Given the description of an element on the screen output the (x, y) to click on. 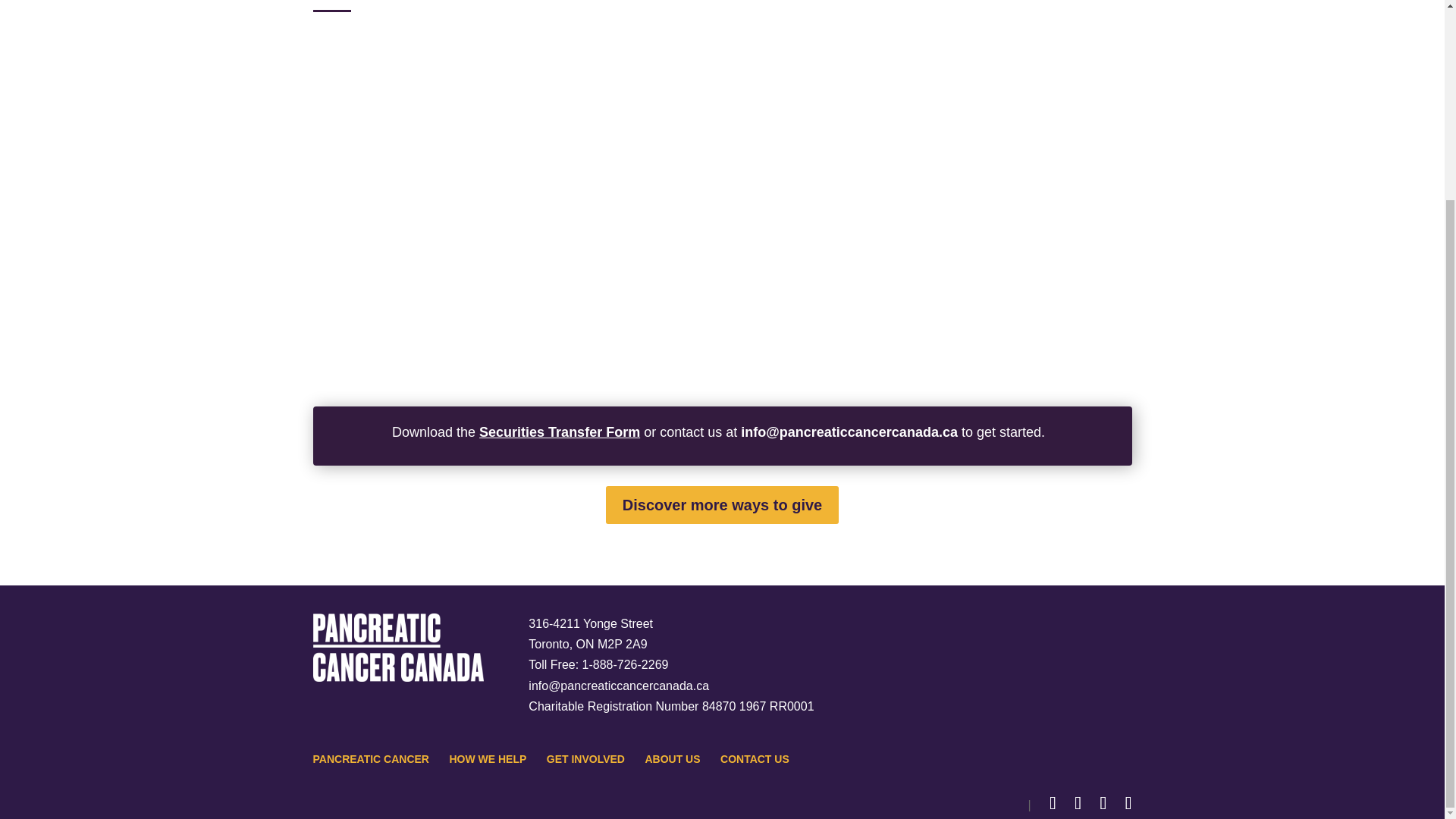
Discover more ways to give (721, 505)
HOW WE HELP (486, 758)
Securities Transfer Form (559, 432)
PANCREATIC CANCER (370, 758)
